Given the description of an element on the screen output the (x, y) to click on. 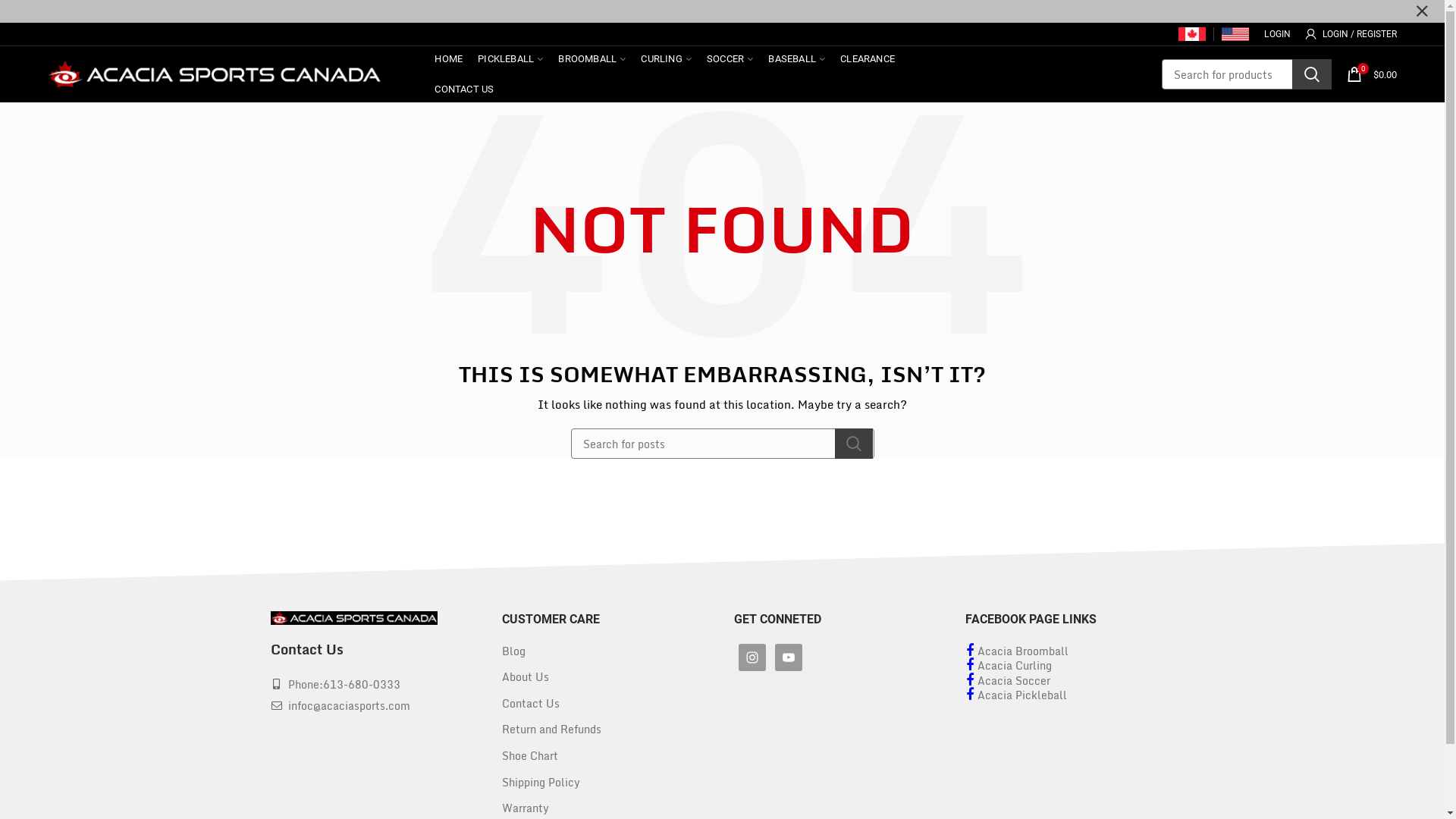
CURLING Element type: text (666, 58)
Warranty Element type: text (525, 807)
Acacia Soccer Element type: text (1007, 687)
CLEARANCE Element type: text (867, 58)
BROOMBALL Element type: text (591, 58)
Acacia Broomball Element type: text (1016, 658)
Acacia Curling Element type: text (1008, 672)
CONTACT US Element type: text (463, 89)
Return and Refunds Element type: text (551, 728)
SEARCH Element type: text (853, 443)
Contact Us Element type: text (530, 703)
Blog Element type: text (513, 650)
BASEBALL Element type: text (796, 58)
LOGIN Element type: text (1277, 33)
Shipping Policy Element type: text (541, 781)
LOGIN / REGISTER Element type: text (1351, 33)
infoc@acaciasports.com Element type: text (349, 705)
About Us Element type: text (525, 676)
Shoe Chart Element type: text (530, 755)
0
$0.00 Element type: text (1371, 74)
613-680-0333 Element type: text (361, 684)
SEARCH Element type: text (1311, 74)
Acacia Pickleball Element type: text (1021, 694)
SOCCER Element type: text (729, 58)
PICKLEBALL Element type: text (510, 58)
HOME Element type: text (448, 58)
